Given the description of an element on the screen output the (x, y) to click on. 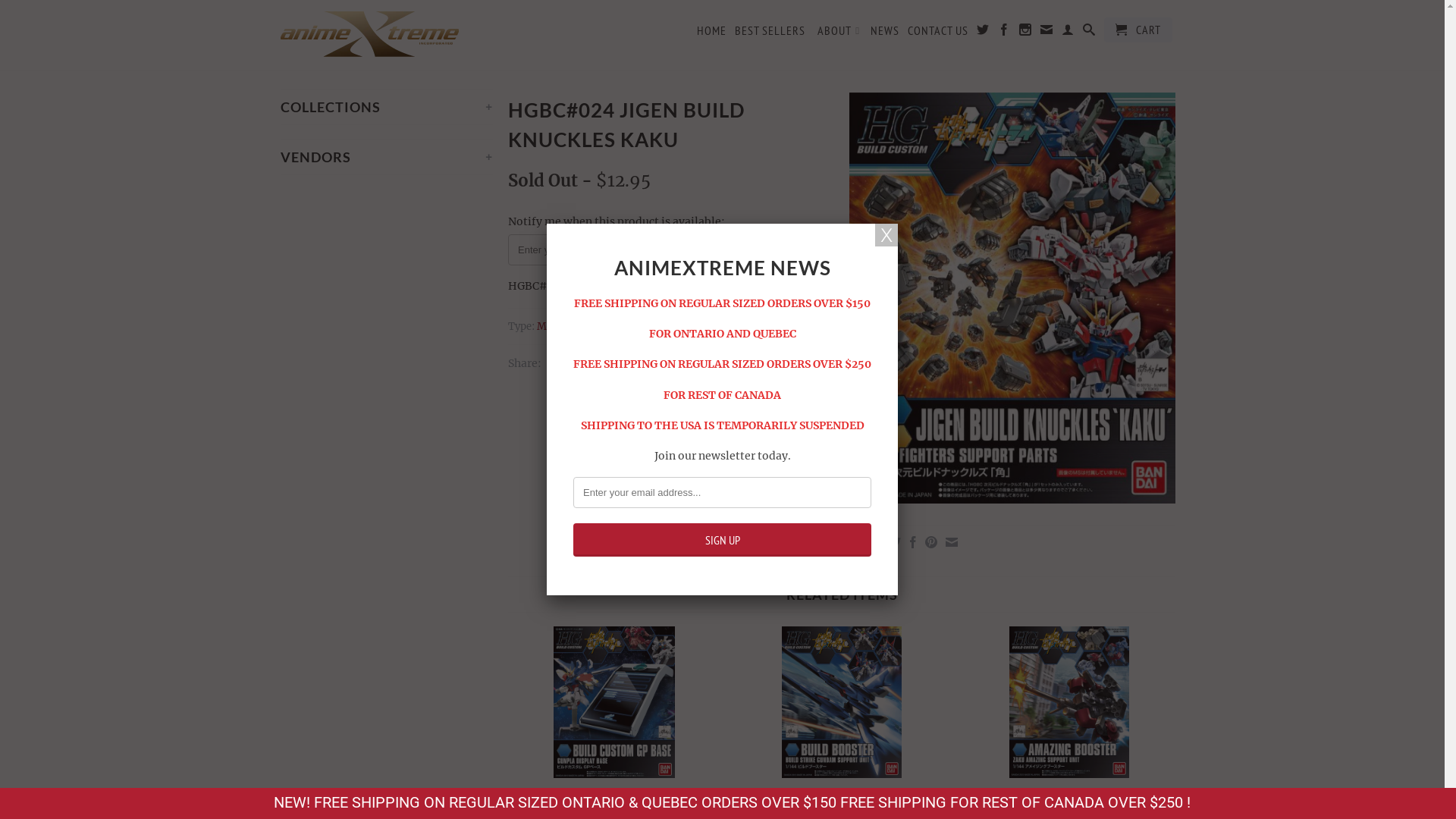
BEST SELLERS Element type: text (769, 33)
NEWS Element type: text (884, 33)
Share this on Twitter Element type: hover (892, 542)
Share this on Pinterest Element type: hover (929, 542)
Share this on Facebook Element type: hover (569, 361)
Products Element type: text (349, 63)
Home Element type: text (295, 63)
HGBC#024 Jigen Build Knuckles Kaku Element type: hover (1012, 297)
CART Element type: text (1138, 29)
Search Element type: hover (1088, 32)
Send Element type: text (694, 248)
AnimeXtreme on Facebook Element type: hover (1003, 32)
Share this on Twitter Element type: hover (551, 361)
Share this on Facebook Element type: hover (911, 542)
Model Kit Element type: text (559, 326)
Sign Up Element type: text (722, 539)
Close Element type: hover (886, 234)
Email this to a friend Element type: hover (949, 542)
AnimeXtreme on Instagram Element type: hover (1025, 32)
HOME Element type: text (711, 33)
AnimeXtreme on Twitter Element type: hover (982, 32)
Email AnimeXtreme Element type: hover (1046, 32)
Email this to a friend Element type: hover (608, 361)
Share this on Pinterest Element type: hover (588, 361)
AnimeXtreme Element type: hover (386, 35)
My Account  Element type: hover (1067, 32)
CONTACT US Element type: text (937, 33)
